Given the description of an element on the screen output the (x, y) to click on. 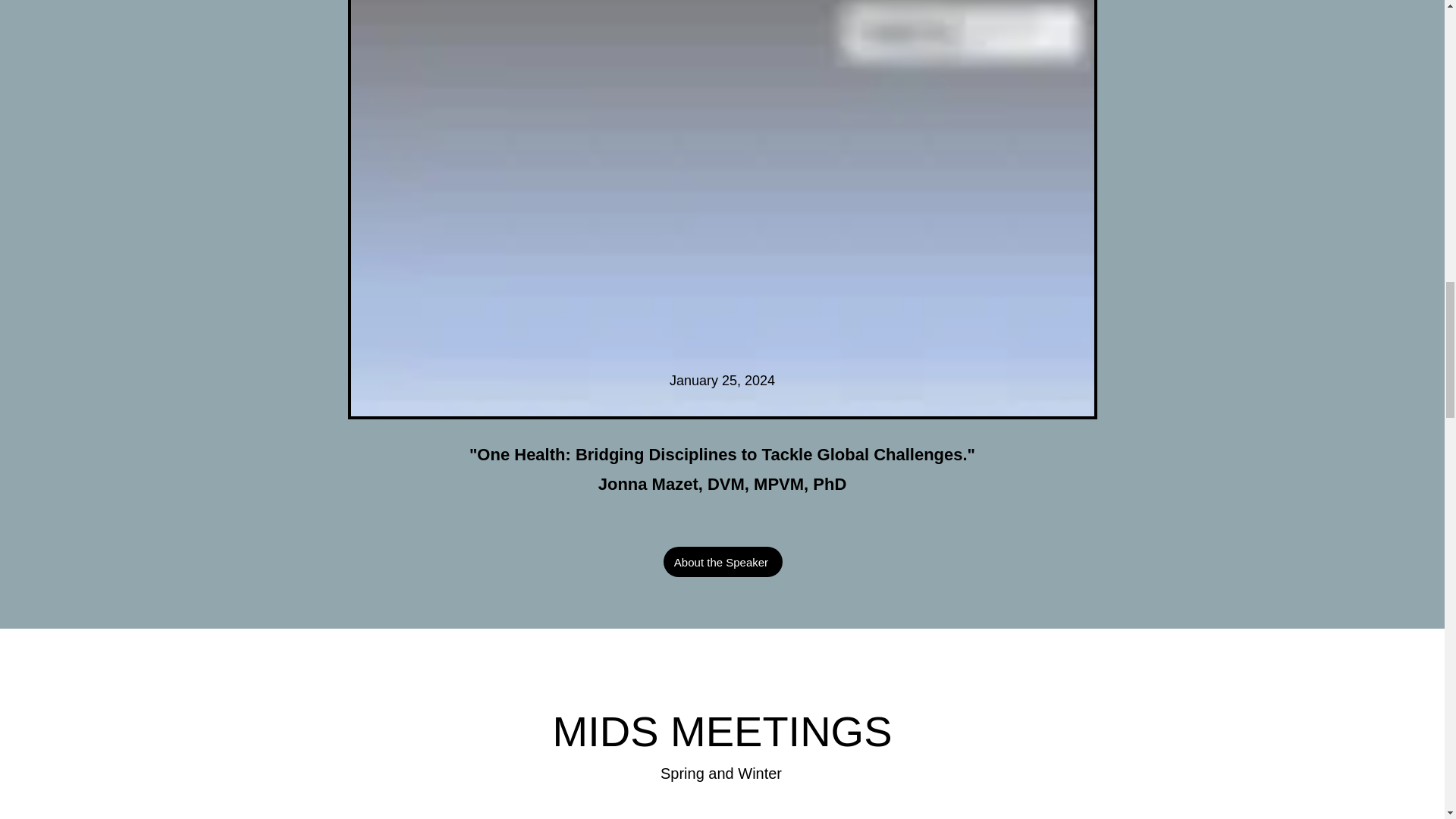
About the Speaker (721, 562)
